Given the description of an element on the screen output the (x, y) to click on. 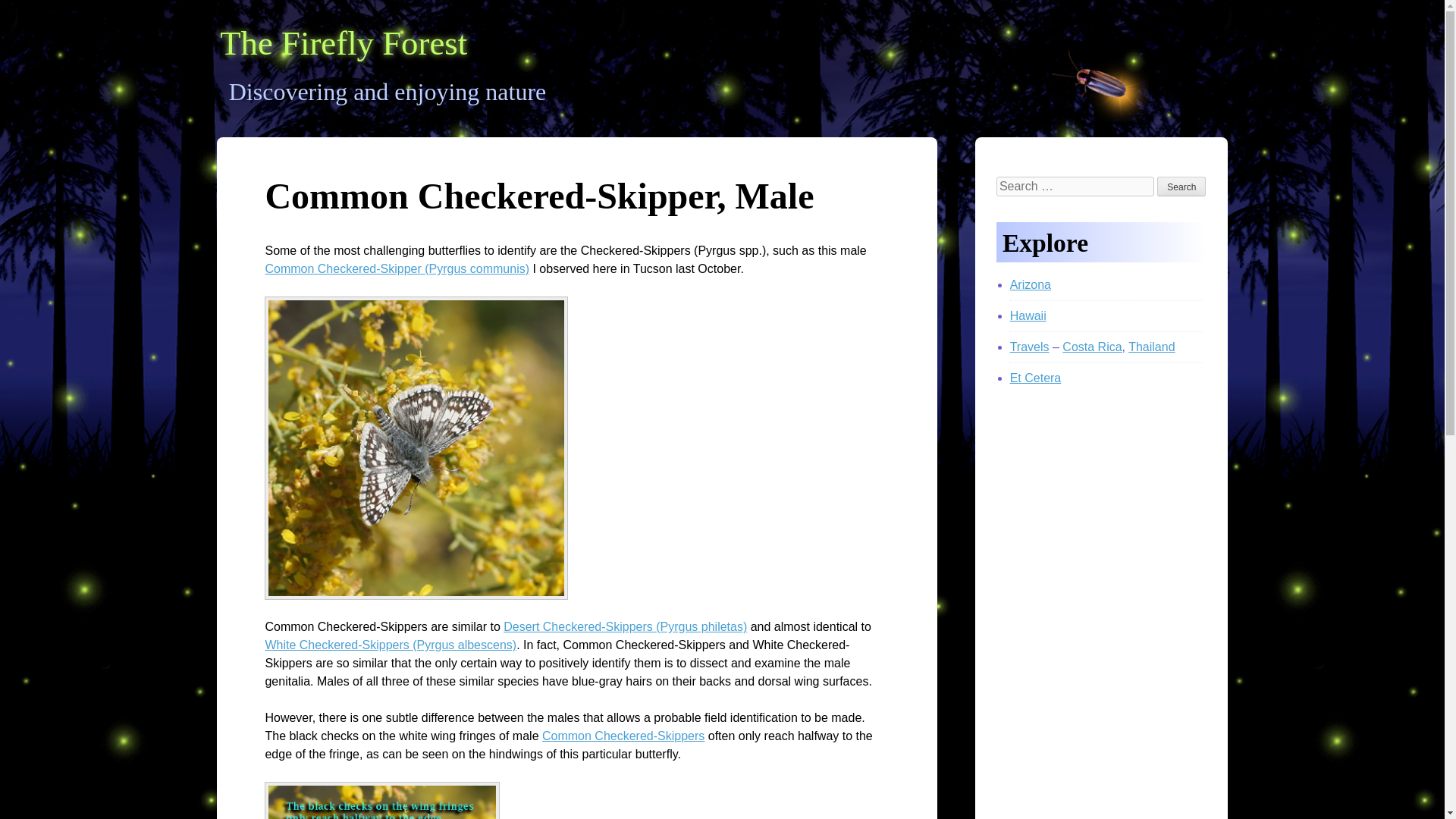
Travels (1029, 346)
Hawaii (1028, 315)
Search (1181, 186)
Arizona (1030, 284)
Search (1181, 186)
Common Checkered-Skippers (622, 735)
Search (1181, 186)
Et Cetera (1035, 377)
The Firefly Forest (343, 43)
